Given the description of an element on the screen output the (x, y) to click on. 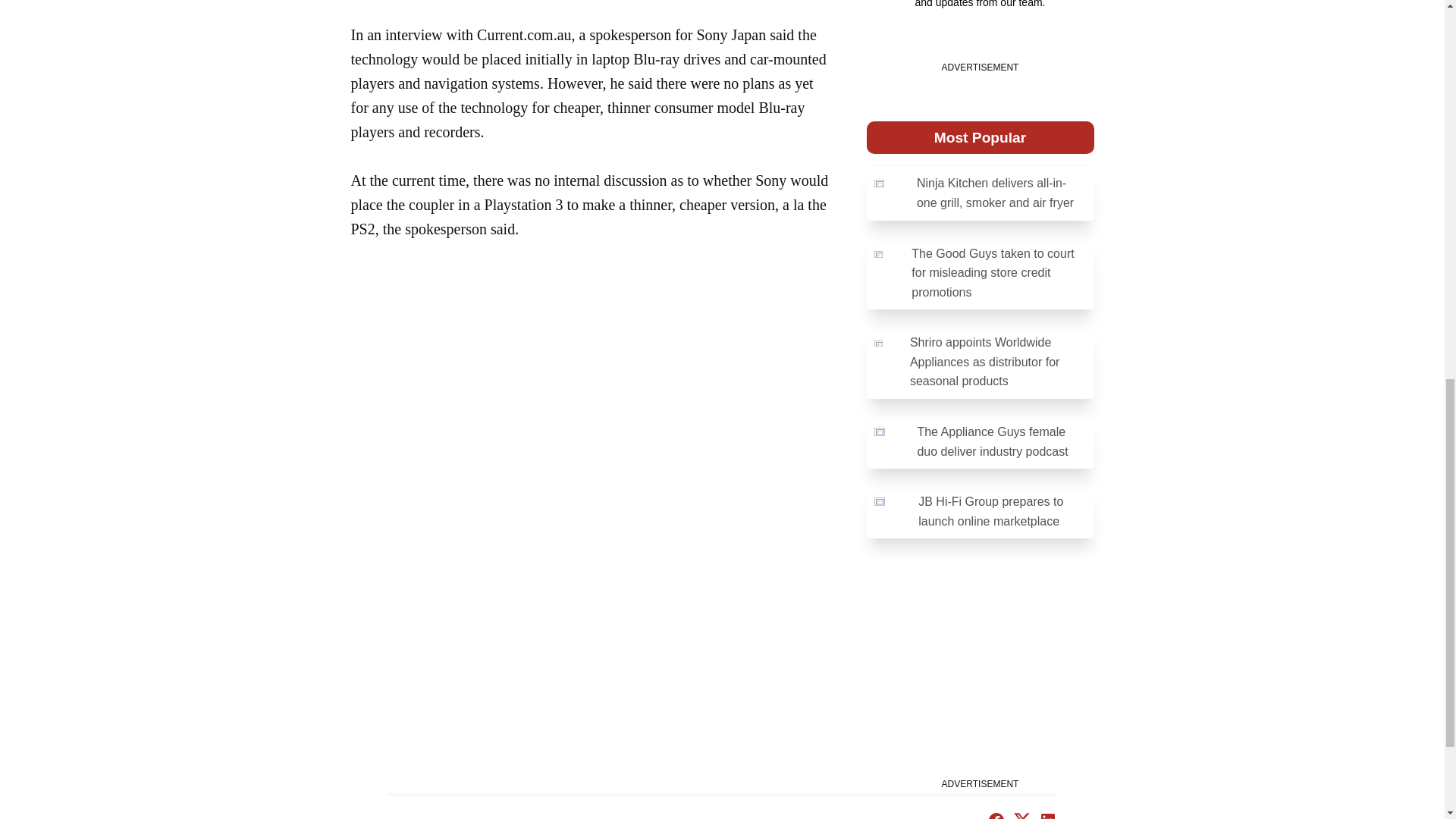
The Appliance Guys female duo deliver industry podcast (979, 441)
JB Hi-Fi Group prepares to launch online marketplace (979, 511)
